Given the description of an element on the screen output the (x, y) to click on. 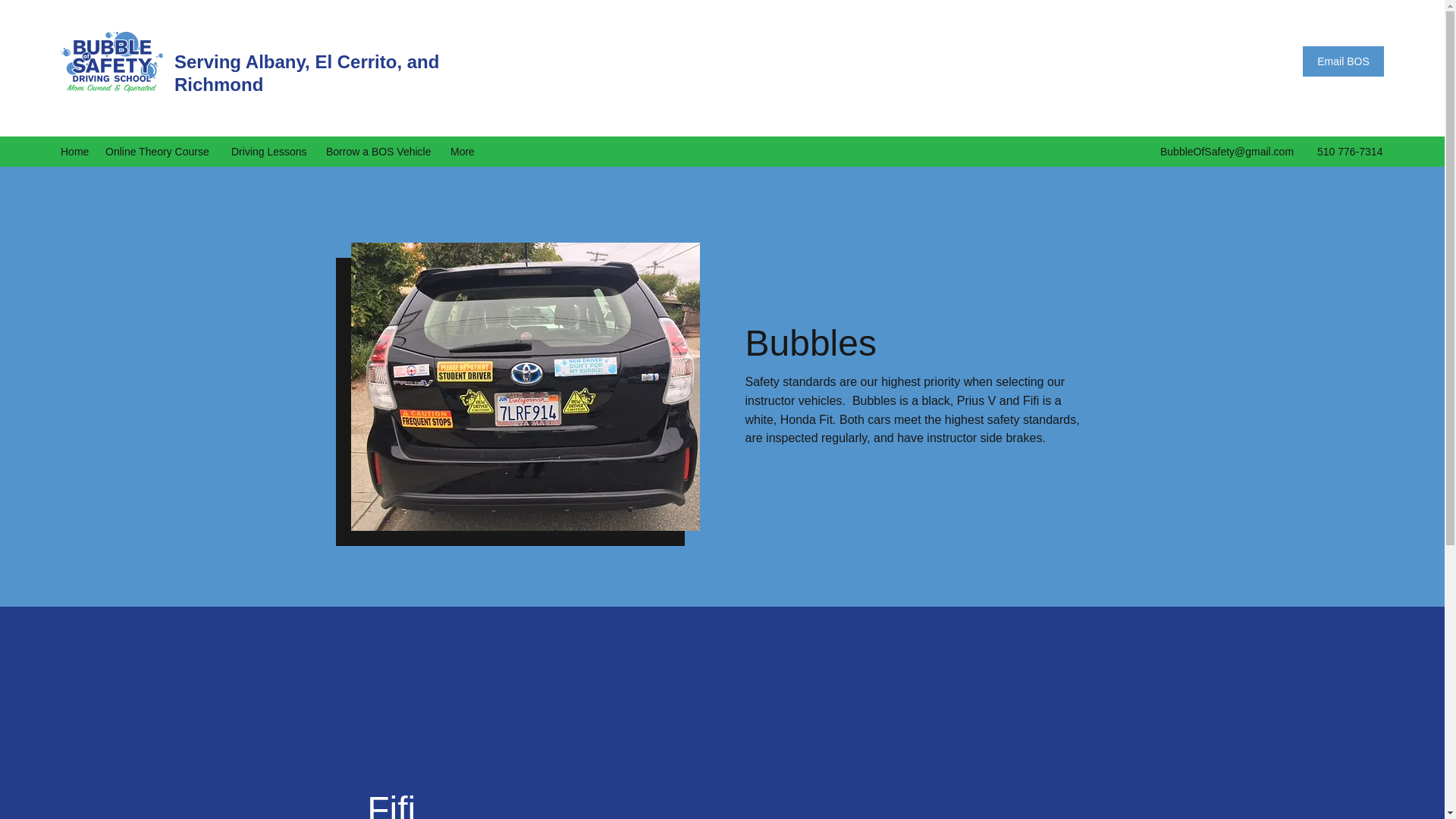
Email BOS (1343, 60)
Borrow a BOS Vehicle (380, 151)
Home (74, 151)
Driving Lessons (271, 151)
Online Theory Course (160, 151)
